Given the description of an element on the screen output the (x, y) to click on. 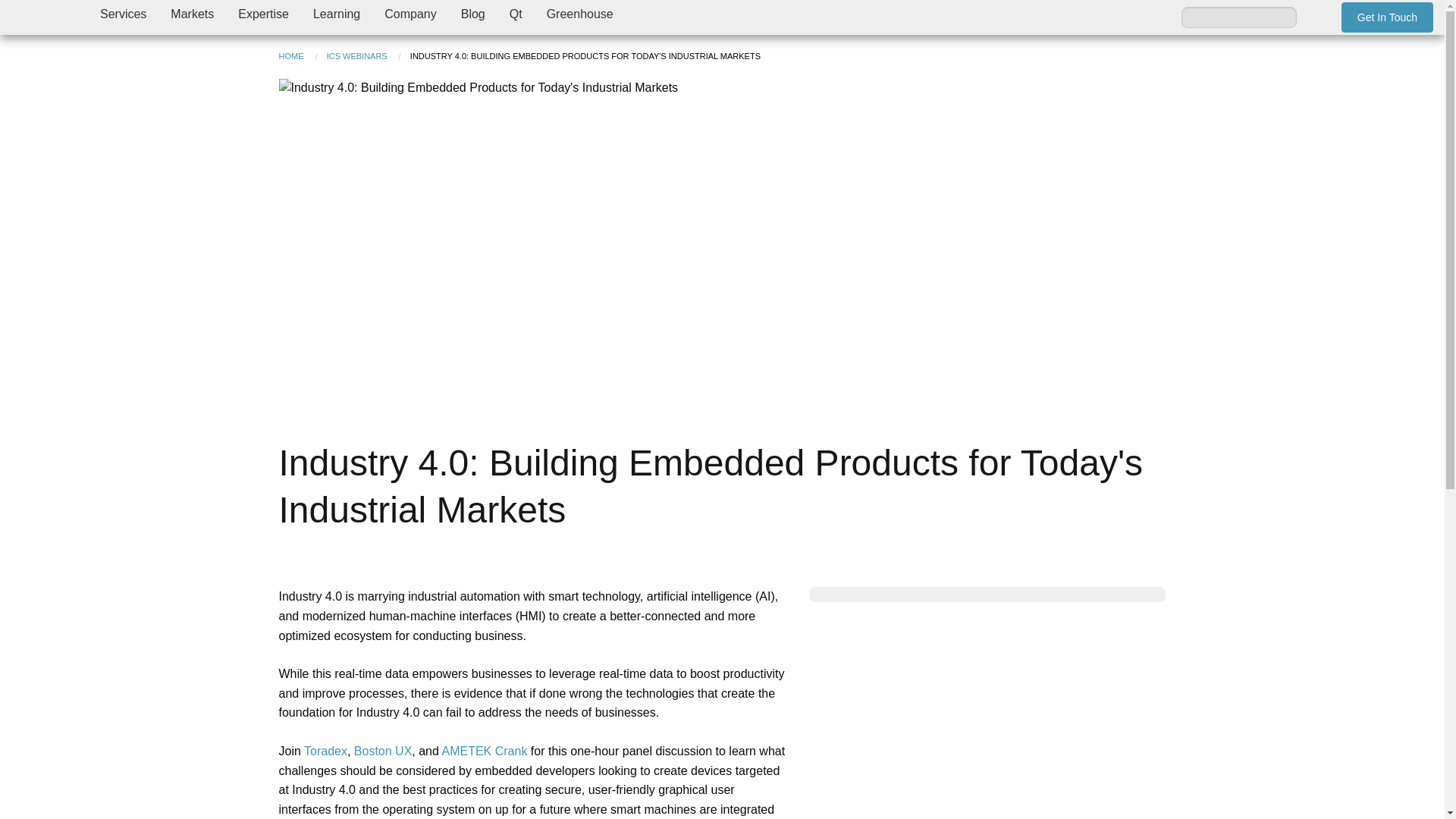
Qt (515, 14)
Search (1315, 16)
Enter the terms you wish to search for. (1238, 16)
Markets (191, 14)
Blog (472, 14)
ICS (44, 17)
Get In Touch (1386, 17)
Services (122, 14)
Company (410, 14)
Learning (336, 14)
Greenhouse (580, 14)
Search (1315, 16)
Expertise (263, 14)
